Given the description of an element on the screen output the (x, y) to click on. 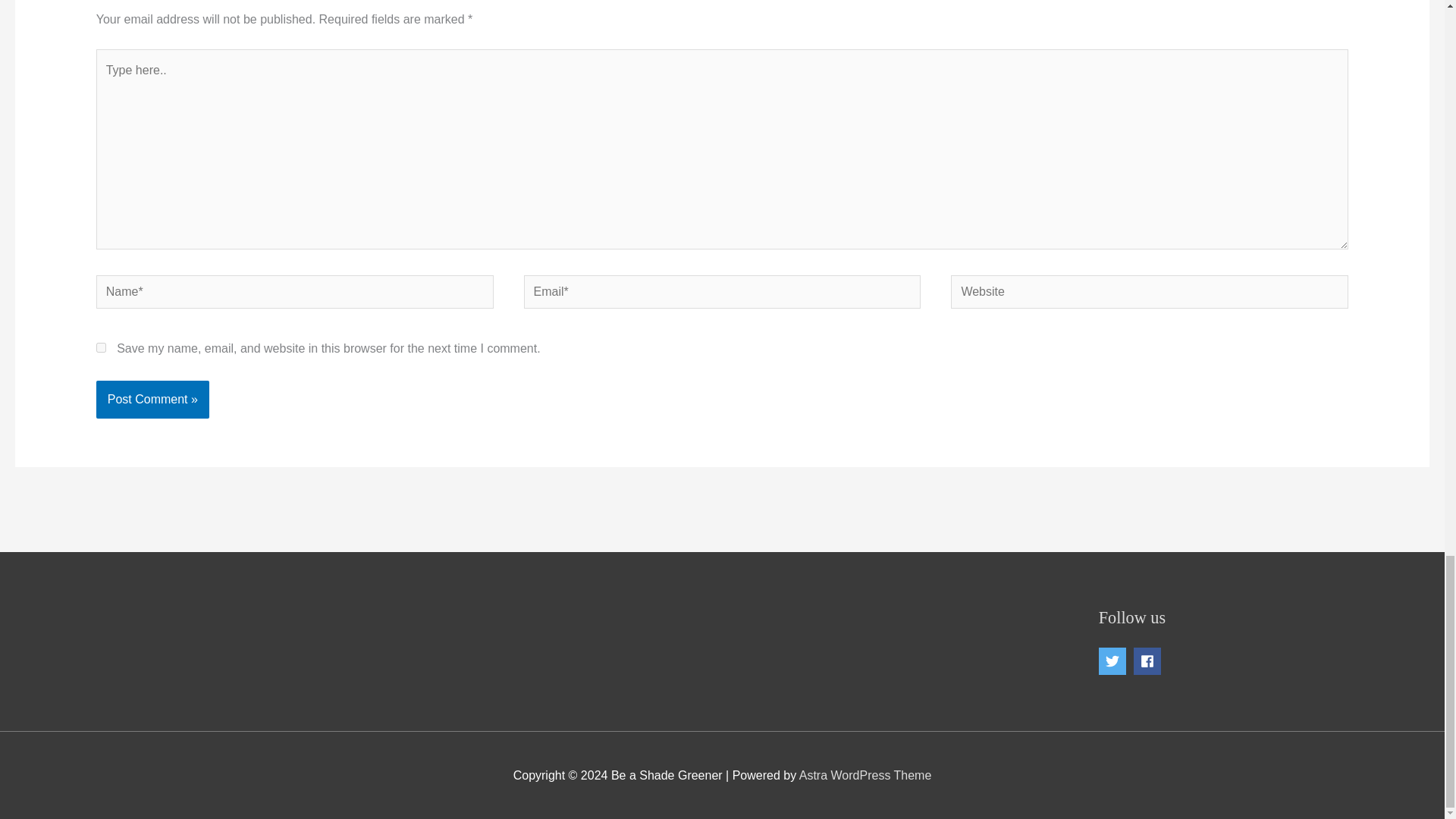
Astra WordPress Theme (865, 775)
yes (101, 347)
